Given the description of an element on the screen output the (x, y) to click on. 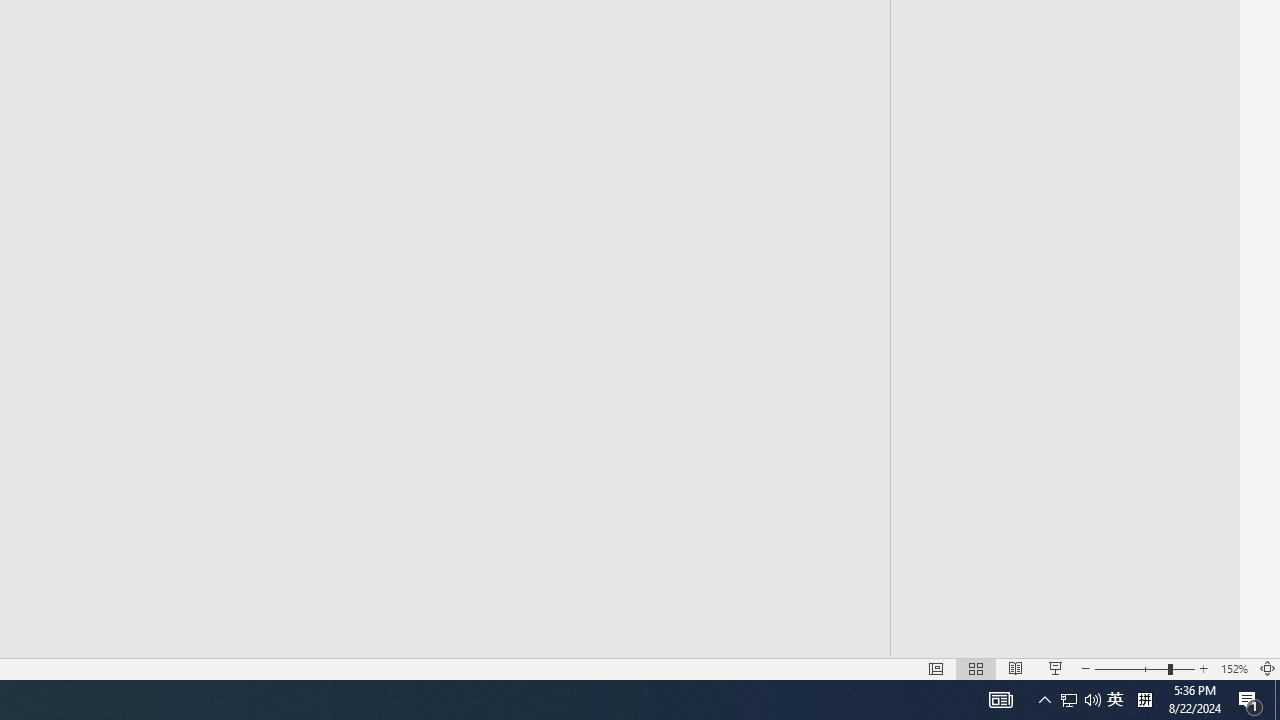
Zoom 152% (1234, 668)
